Given the description of an element on the screen output the (x, y) to click on. 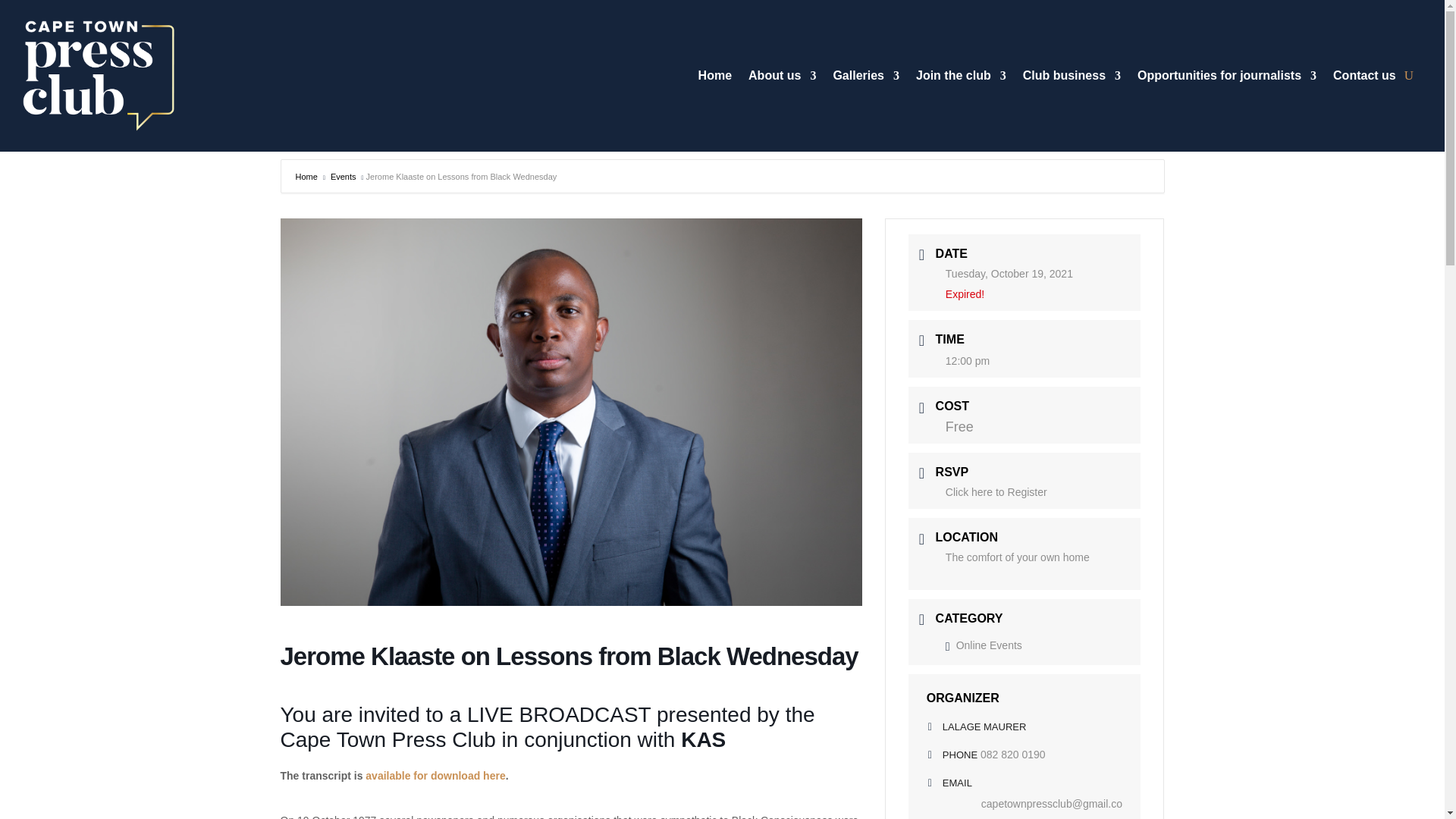
Galleries (865, 78)
Home (715, 78)
Club business (1072, 78)
About us (781, 78)
Join the club (960, 78)
Opportunities for journalists (1226, 78)
Contact us (1364, 78)
Cape Town Press Club Logo (98, 75)
